Given the description of an element on the screen output the (x, y) to click on. 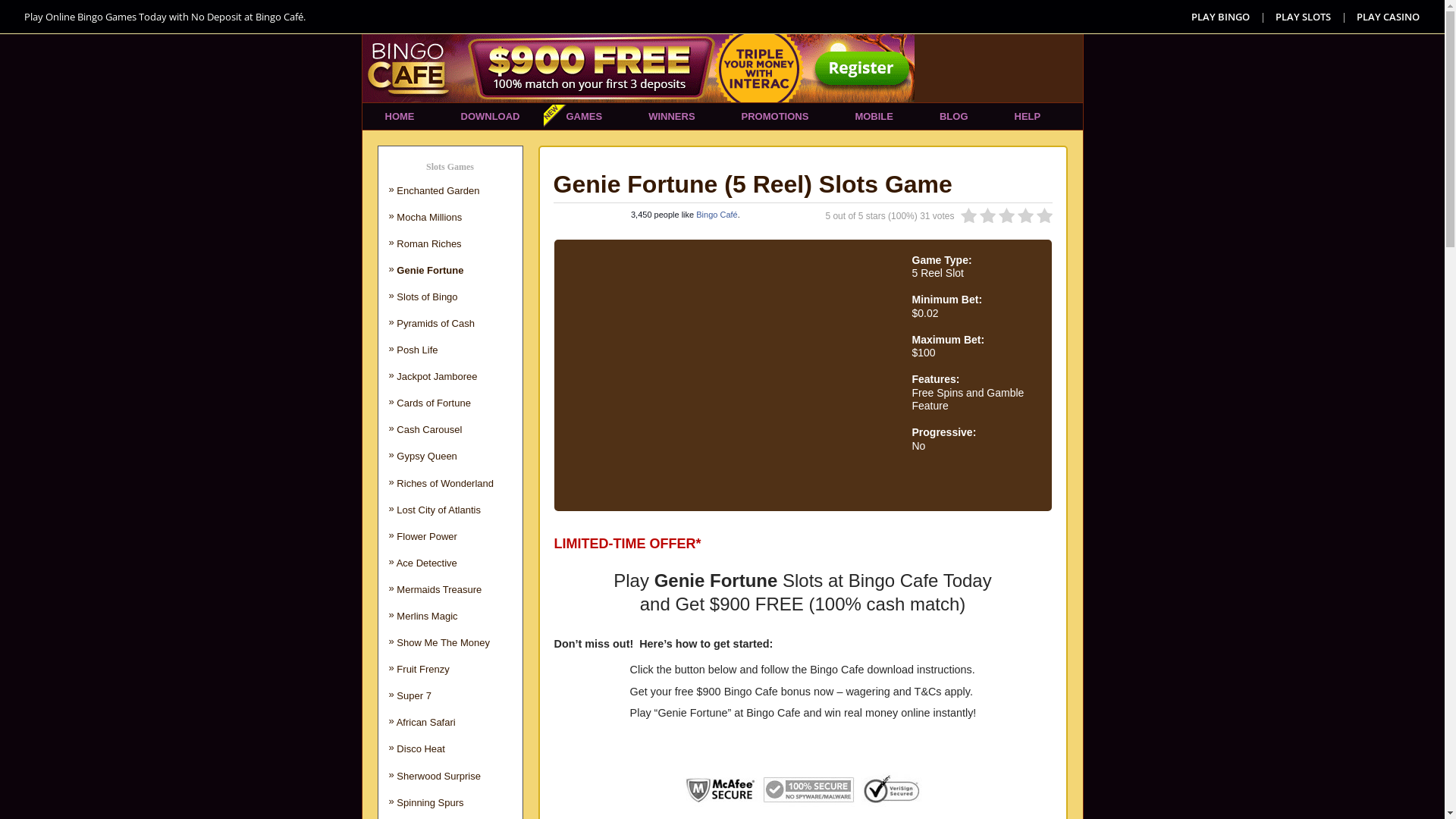
Roman Riches Element type: text (428, 243)
HOME Element type: text (399, 116)
Gypsy Queen Element type: text (426, 455)
PLAY SLOTS Element type: text (1303, 16)
Mocha Millions Element type: text (428, 216)
Cash Carousel Element type: text (428, 429)
WINNERS Element type: text (671, 116)
Ace Detective Element type: text (426, 562)
Jackpot Jamboree Element type: text (436, 376)
Show Me The Money Element type: text (442, 642)
Sherwood Surprise Element type: text (438, 775)
Posh Life Element type: text (416, 349)
PLAY BINGO Element type: text (1220, 16)
BLOG Element type: text (953, 116)
PLAY CASINO Element type: text (1388, 16)
Genie Fortune Element type: text (429, 270)
HELP Element type: text (1027, 116)
Bingo Cafe download instructions Element type: text (890, 669)
Riches of Wonderland Element type: text (444, 483)
Spinning Spurs Element type: text (429, 802)
GAMES Element type: text (583, 116)
Pyramids of Cash Element type: text (435, 323)
Merlins Magic Element type: text (426, 615)
Flower Power Element type: text (426, 536)
Enchanted Garden Element type: text (437, 190)
Cards of Fortune Element type: text (433, 402)
MOBILE Element type: text (873, 116)
Slots of Bingo Element type: text (426, 296)
Mermaids Treasure Element type: text (438, 589)
Disco Heat Element type: text (420, 748)
DOWNLOAD Element type: text (490, 116)
Super 7 Element type: text (413, 695)
PROMOTIONS Element type: text (774, 116)
Lost City of Atlantis Element type: text (438, 509)
Fruit Frenzy Element type: text (422, 668)
African Safari Element type: text (425, 722)
Bingo Cafe bonus Element type: text (767, 691)
